Given the description of an element on the screen output the (x, y) to click on. 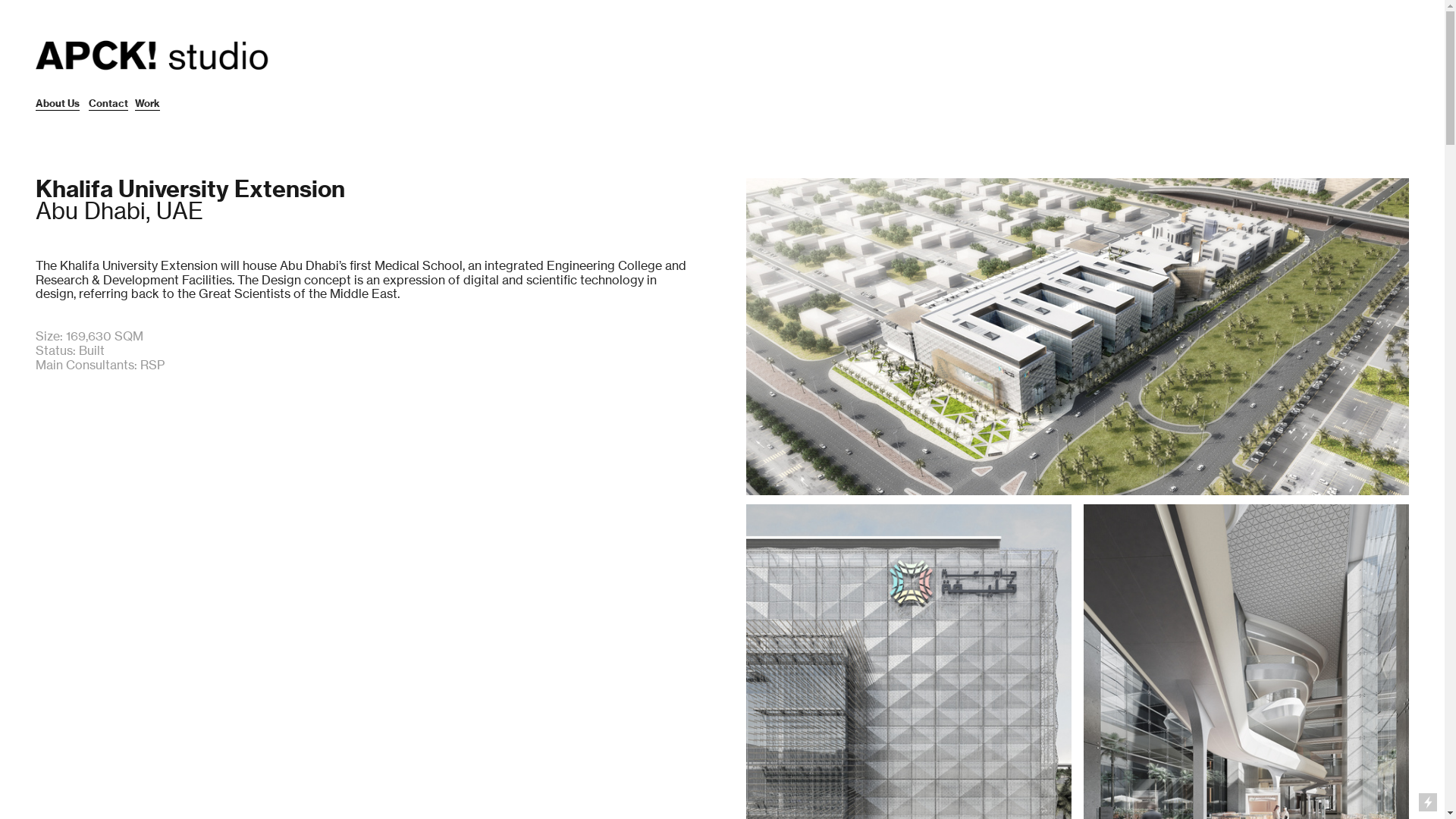
About Us Element type: text (57, 103)
Work Element type: text (147, 103)
Contact Element type: text (108, 103)
